Given the description of an element on the screen output the (x, y) to click on. 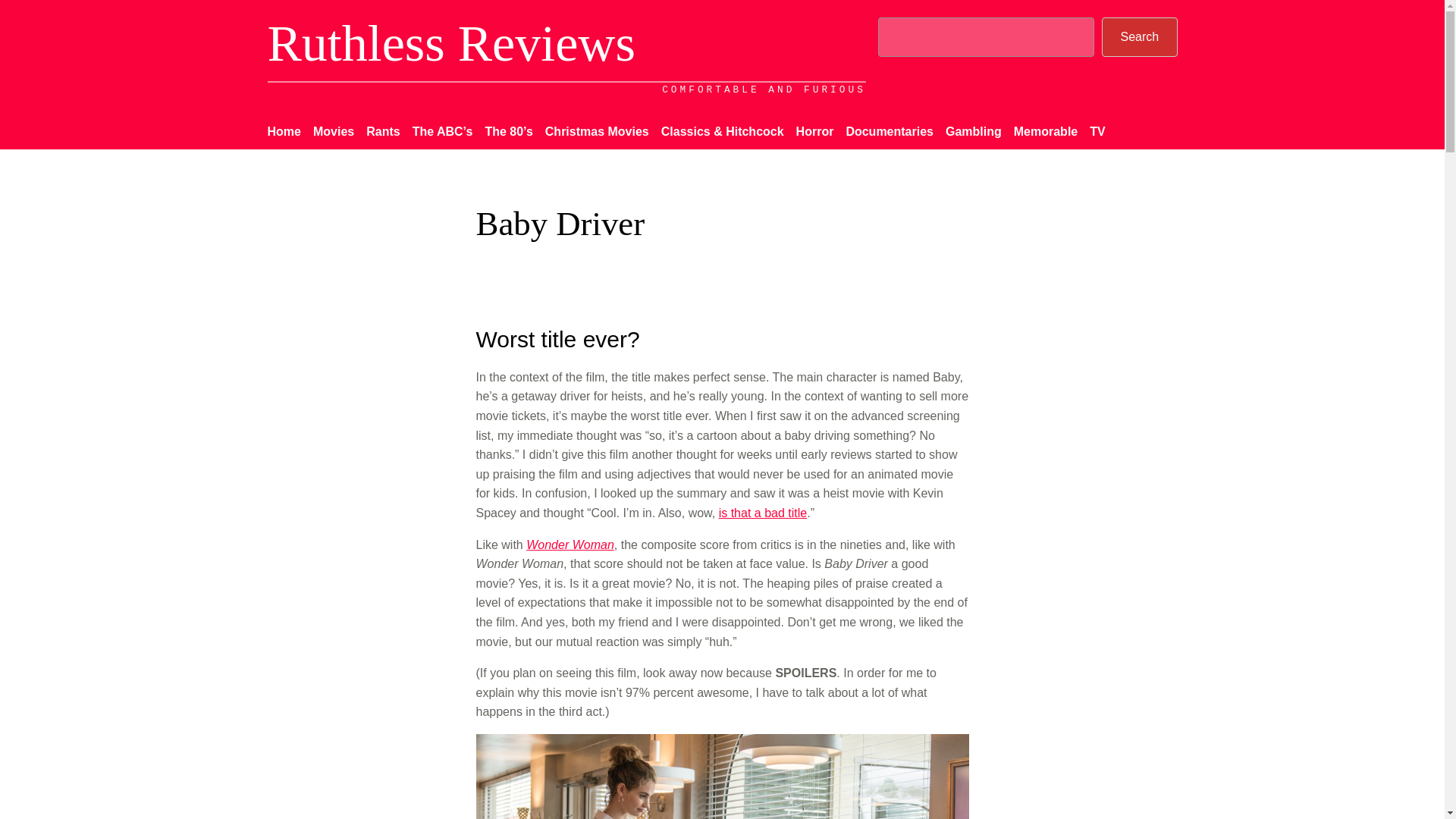
Rants (382, 131)
Ruthless Reviews (450, 42)
Memorable (1045, 131)
Wonder Woman (569, 544)
Horror (815, 131)
Search (1139, 36)
Home (282, 131)
is that a bad title (763, 512)
Documentaries (889, 131)
Christmas Movies (596, 131)
Gambling (972, 131)
Movies (333, 131)
